Given the description of an element on the screen output the (x, y) to click on. 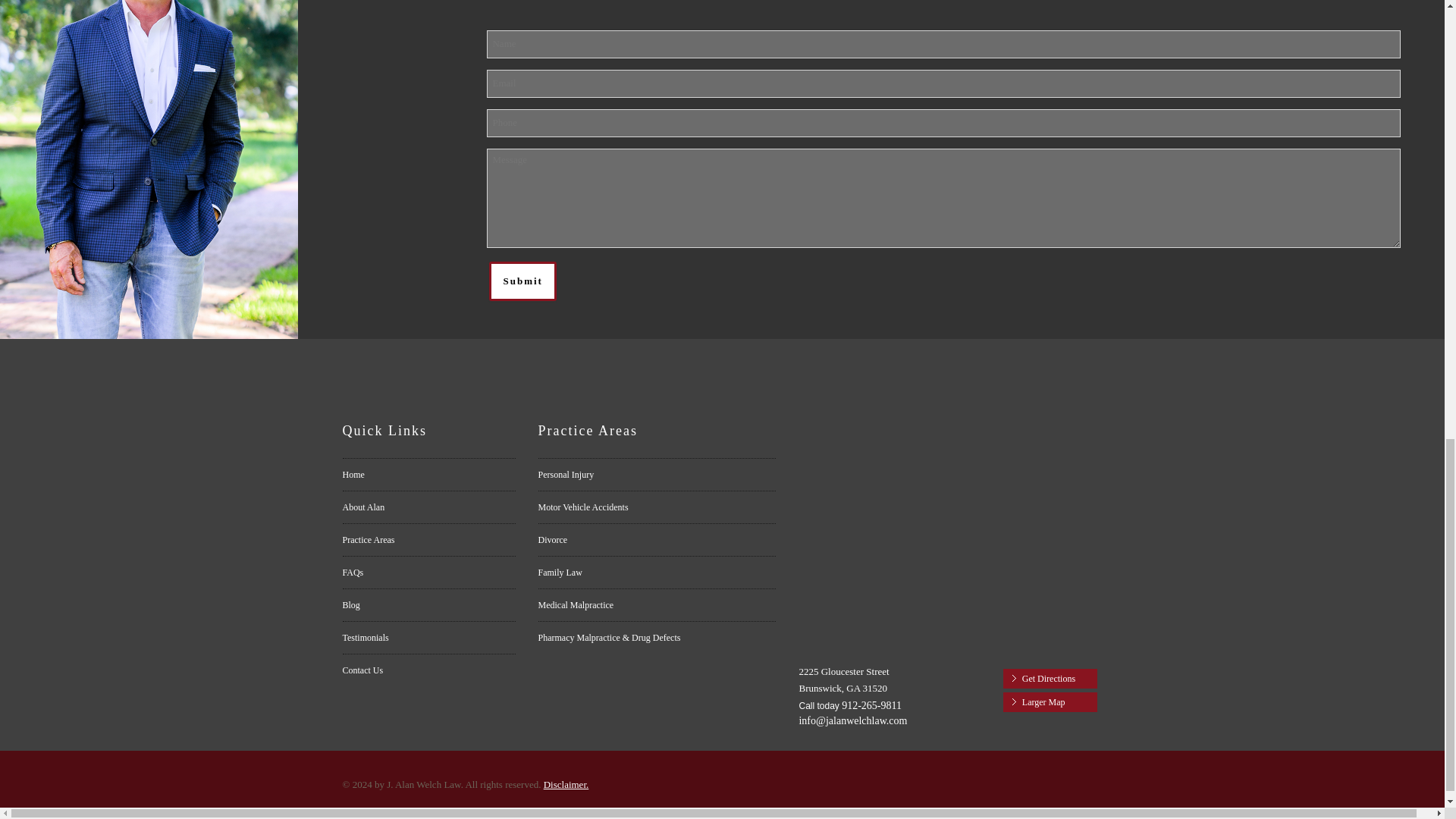
Larger Map (1050, 701)
Divorce (657, 540)
912-265-9811 (881, 705)
Motor Vehicle Accidents (657, 507)
Medical Malpractice (657, 604)
Submit (522, 281)
Contact Us (428, 670)
Get Directions (1050, 678)
Submit (522, 281)
Personal Injury (657, 474)
Testimonials (428, 637)
About Alan (428, 507)
Practice Areas (428, 540)
Blog (428, 604)
Home (428, 474)
